Given the description of an element on the screen output the (x, y) to click on. 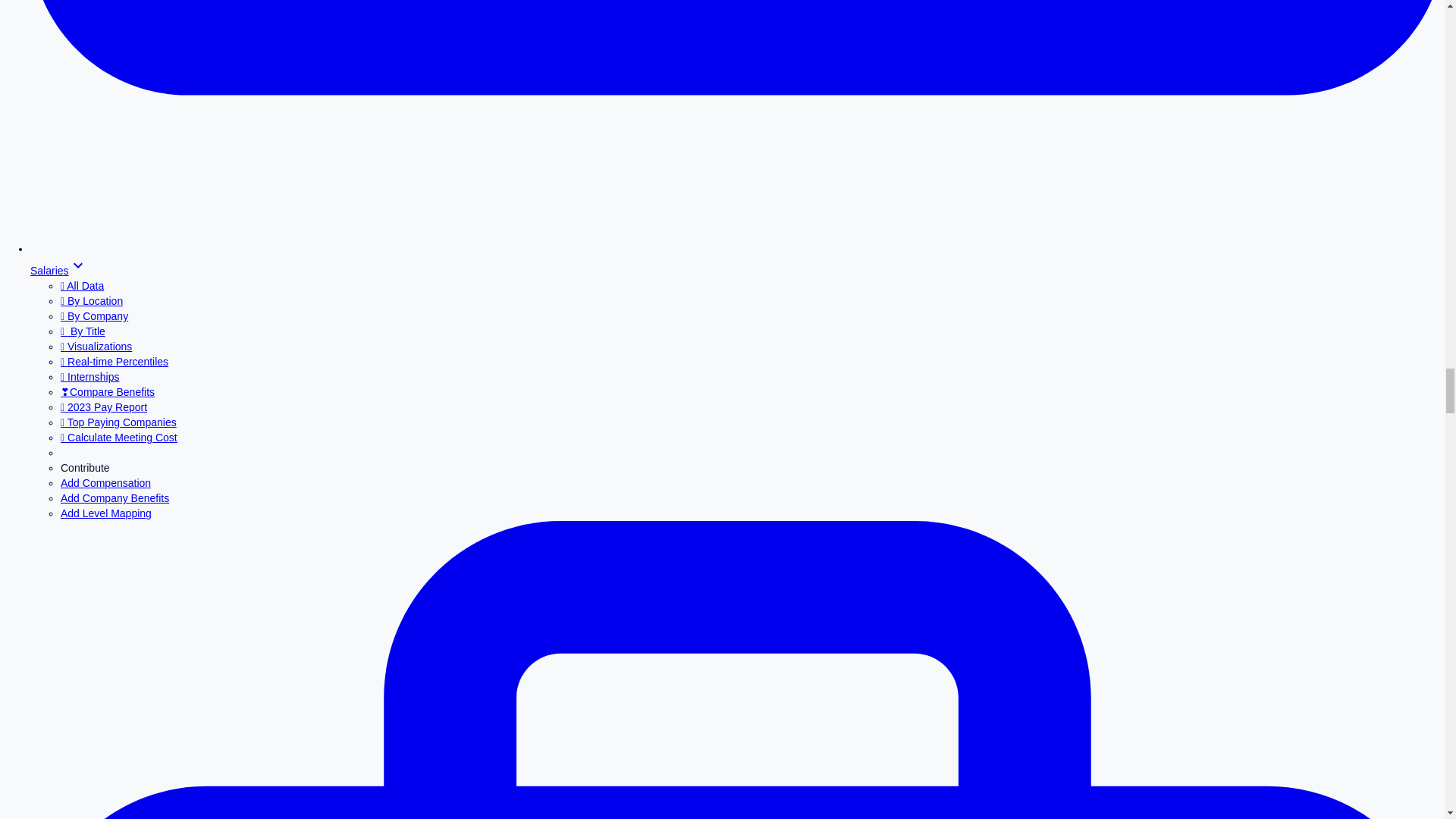
Add Compensation (106, 482)
Add Company Benefits (114, 498)
